Given the description of an element on the screen output the (x, y) to click on. 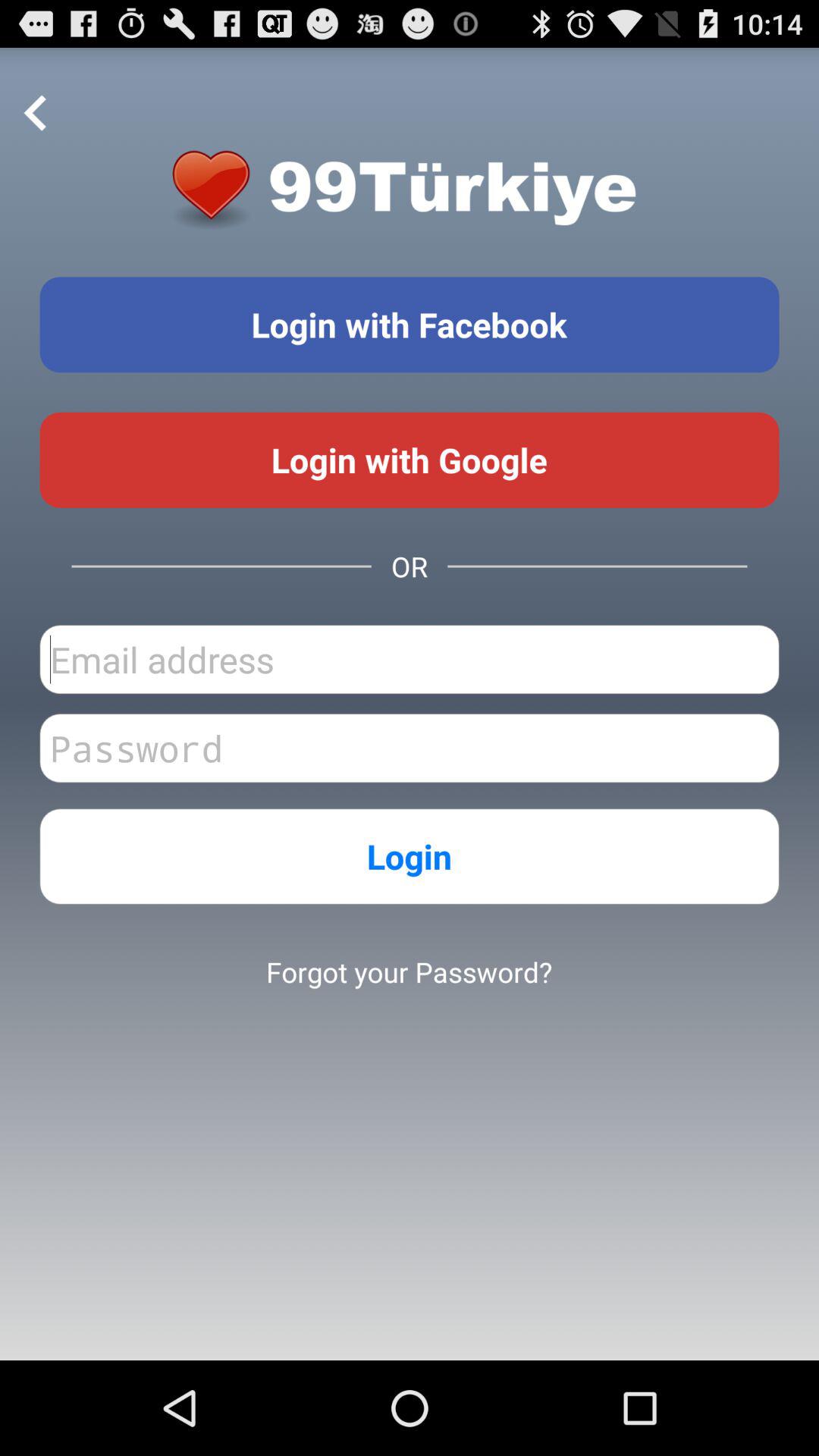
login with google (409, 459)
